Given the description of an element on the screen output the (x, y) to click on. 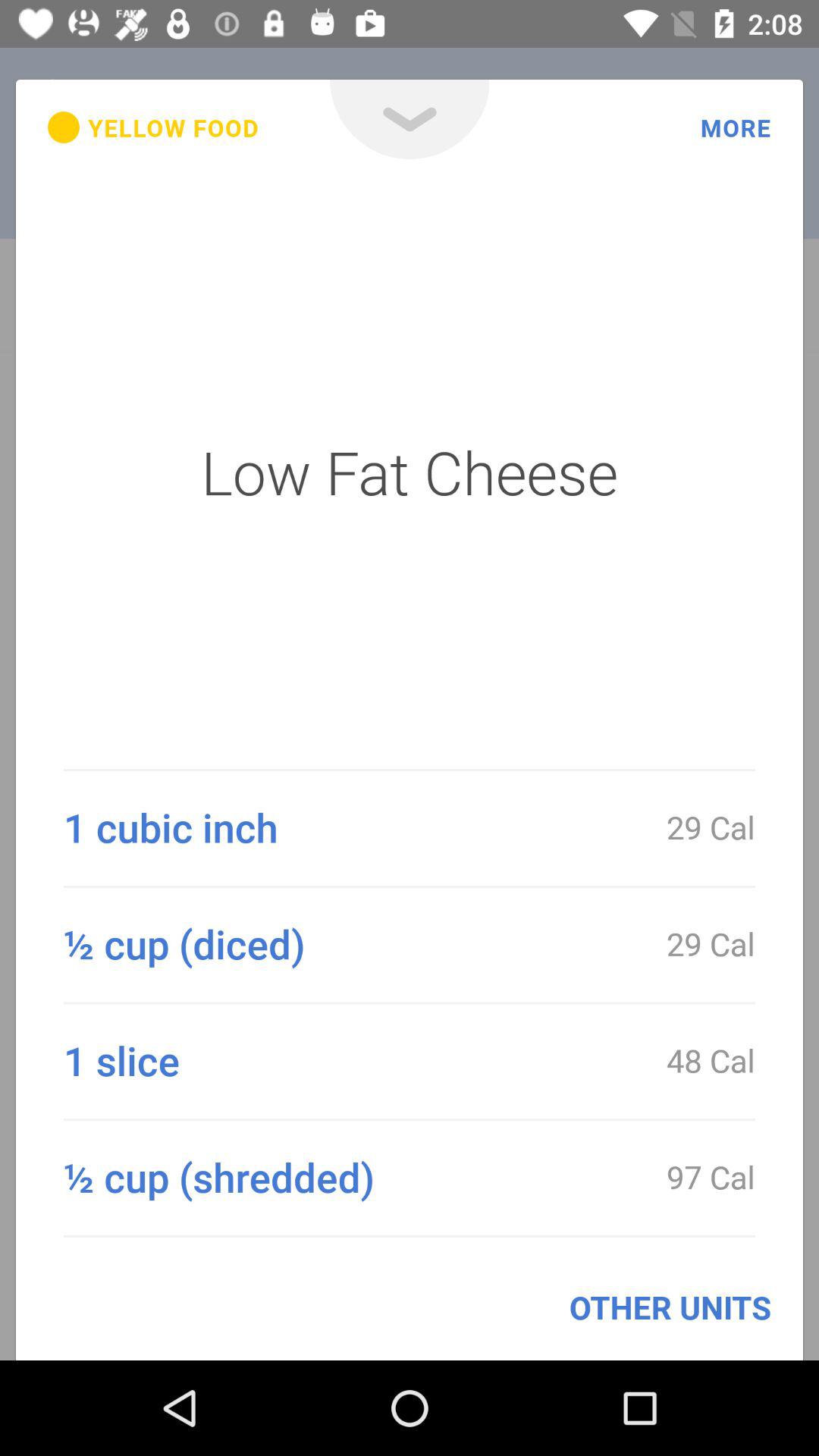
jump until the other units icon (670, 1306)
